Given the description of an element on the screen output the (x, y) to click on. 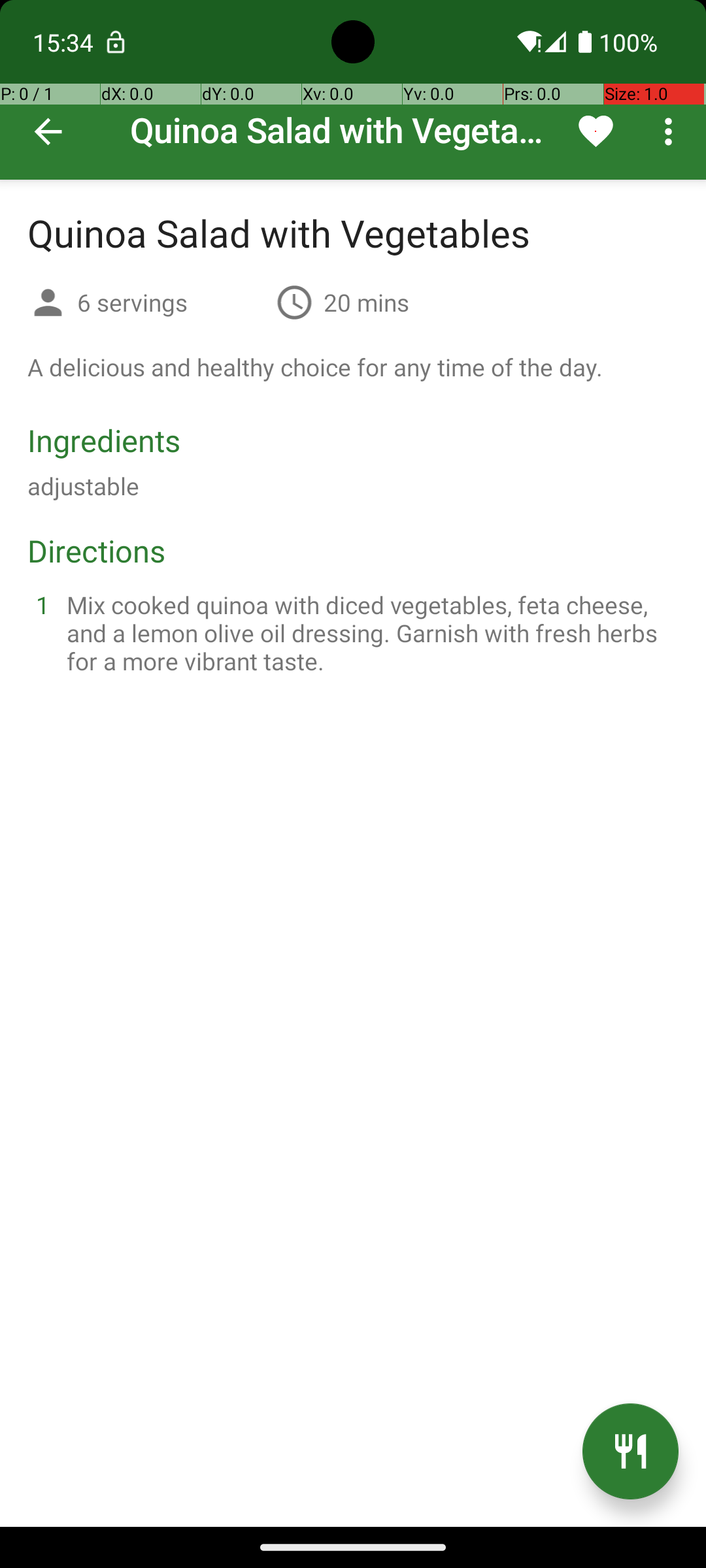
Mix cooked quinoa with diced vegetables, feta cheese, and a lemon olive oil dressing. Garnish with fresh herbs for a more vibrant taste. Element type: android.widget.TextView (368, 632)
